Given the description of an element on the screen output the (x, y) to click on. 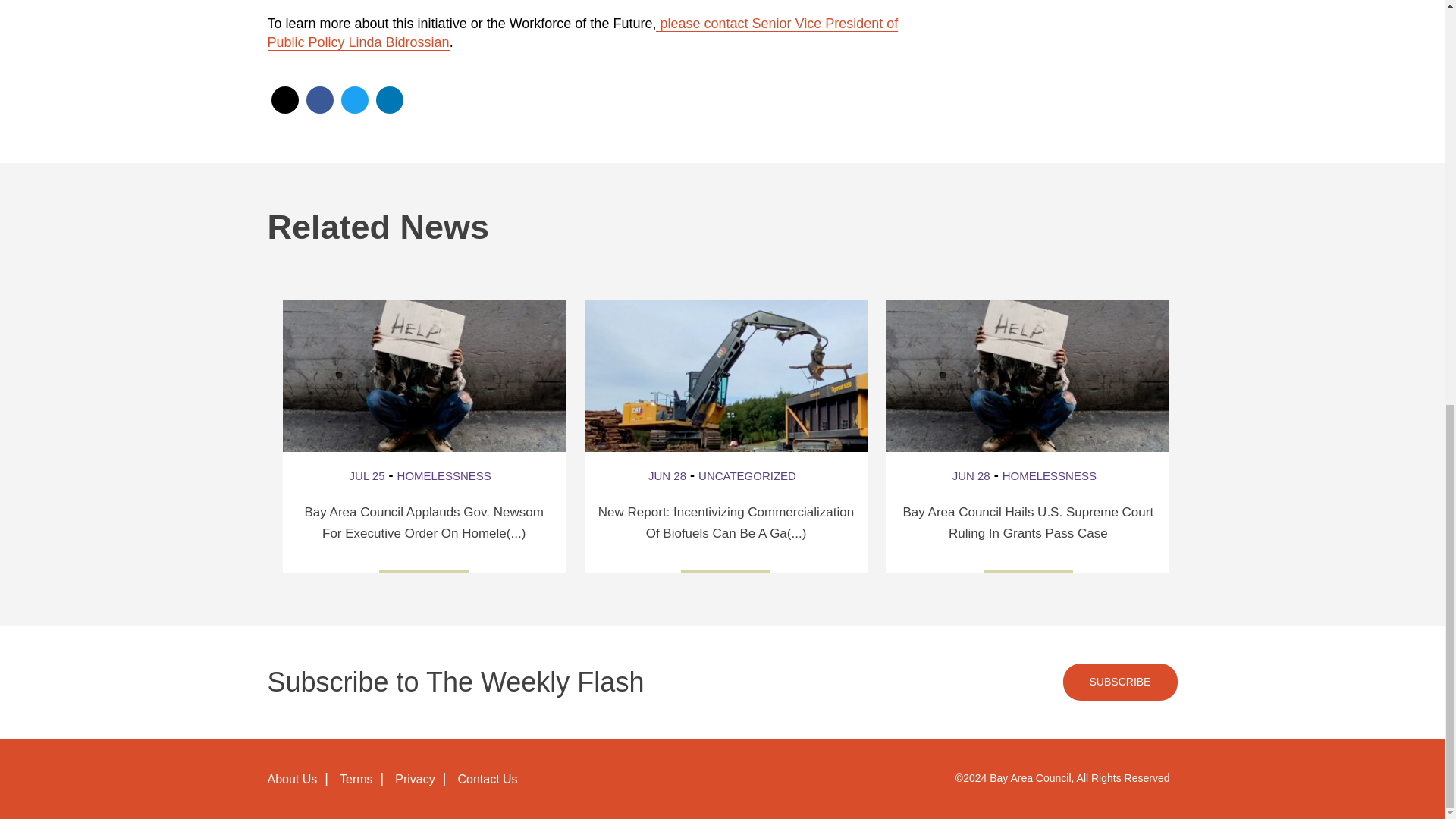
Email to a friend (284, 99)
Share on Facebook (319, 99)
Share on Twitter (354, 99)
Share on LinkedIn (389, 99)
